Given the description of an element on the screen output the (x, y) to click on. 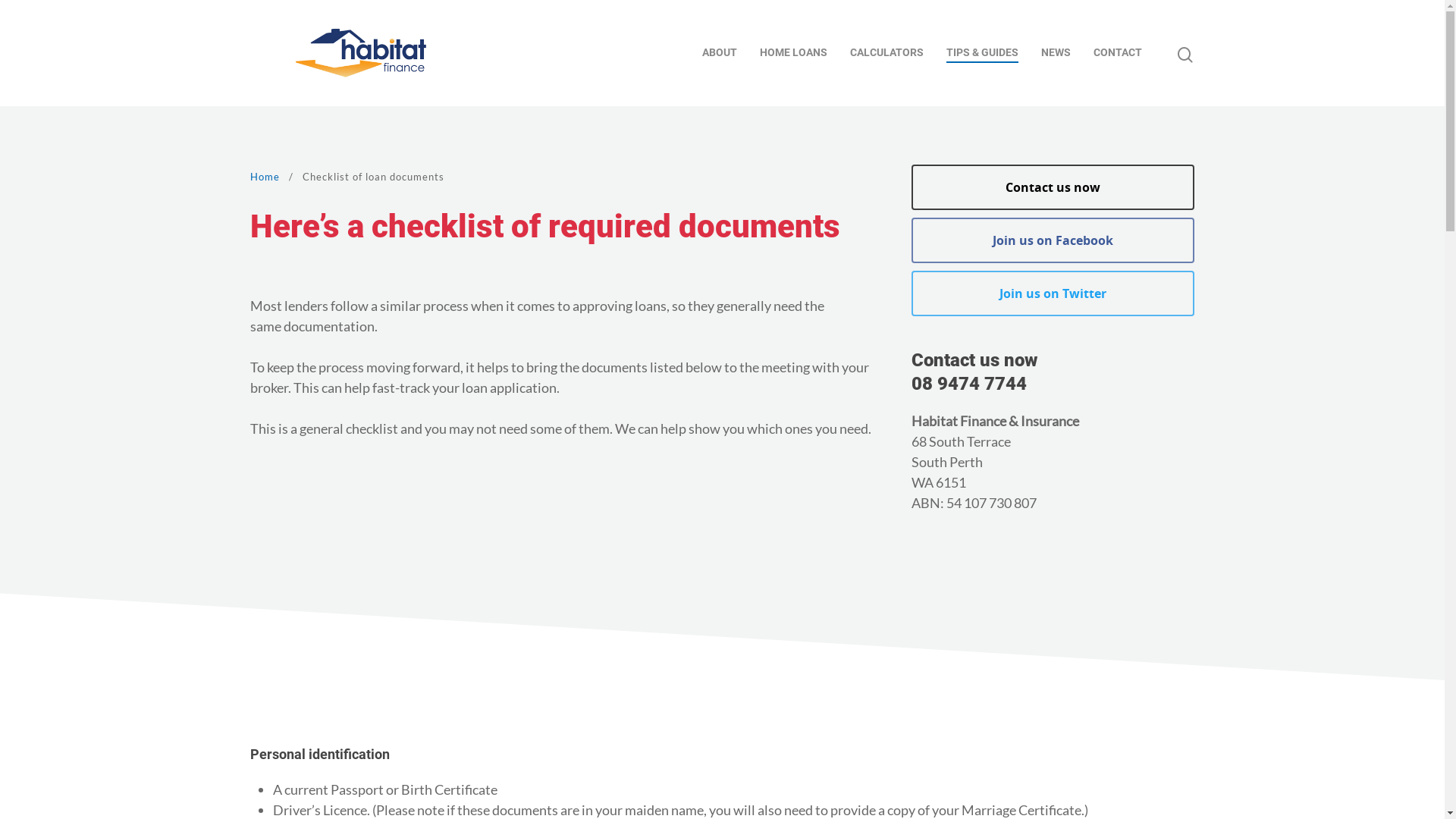
Home Element type: text (264, 176)
Join us on Facebook Element type: text (1052, 240)
Join us on Twitter Element type: text (1052, 293)
08 9474 7744 Element type: text (968, 383)
ABOUT Element type: text (719, 52)
NEWS Element type: text (1055, 52)
Contact us now Element type: text (1052, 187)
TIPS & GUIDES Element type: text (982, 52)
HOME LOANS Element type: text (793, 52)
CONTACT Element type: text (1117, 52)
CALCULATORS Element type: text (886, 52)
